Given the description of an element on the screen output the (x, y) to click on. 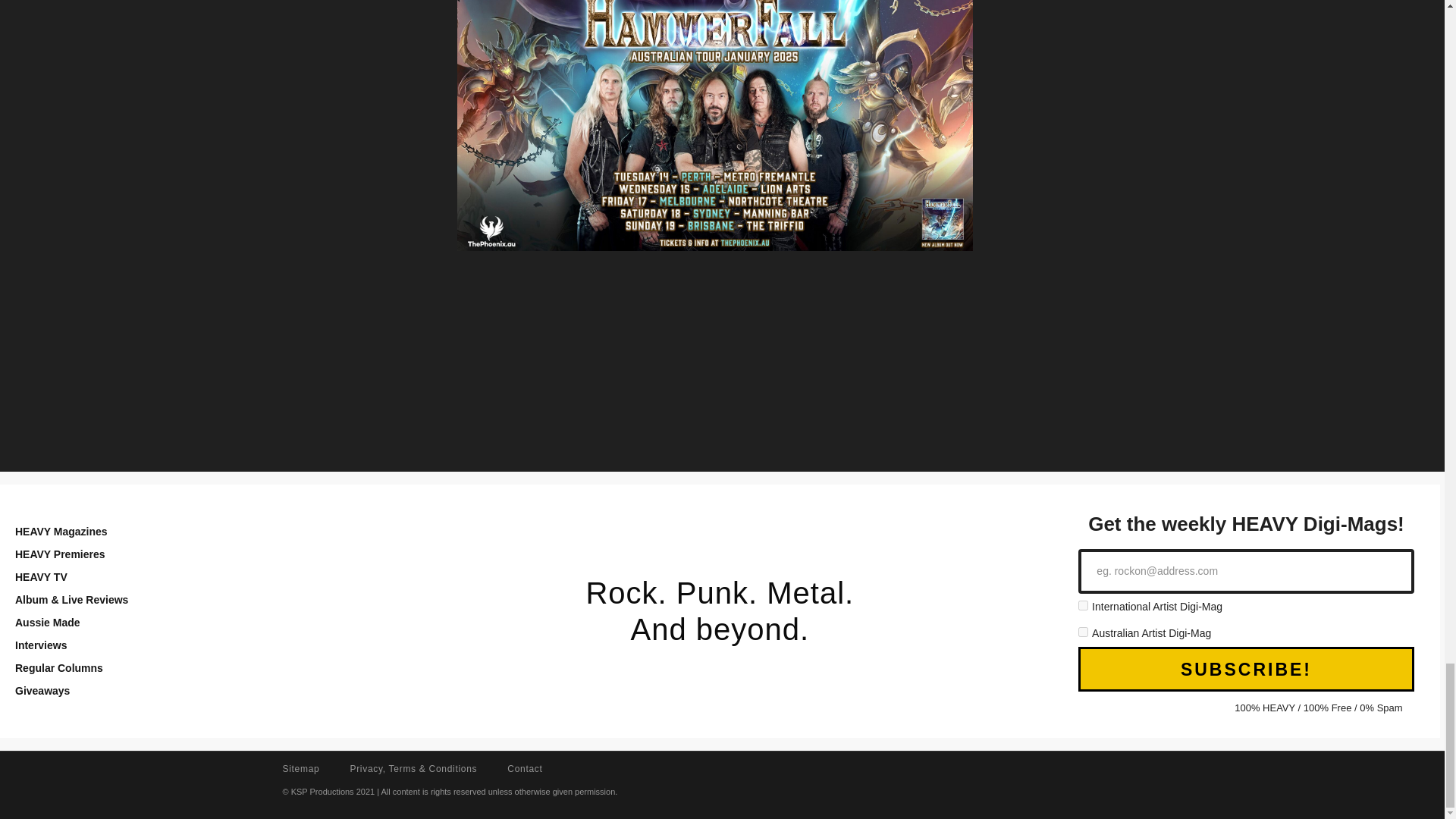
  Australian Artist Digi-Mag (1082, 632)
  International Artist Digi-Mag (1082, 605)
